Given the description of an element on the screen output the (x, y) to click on. 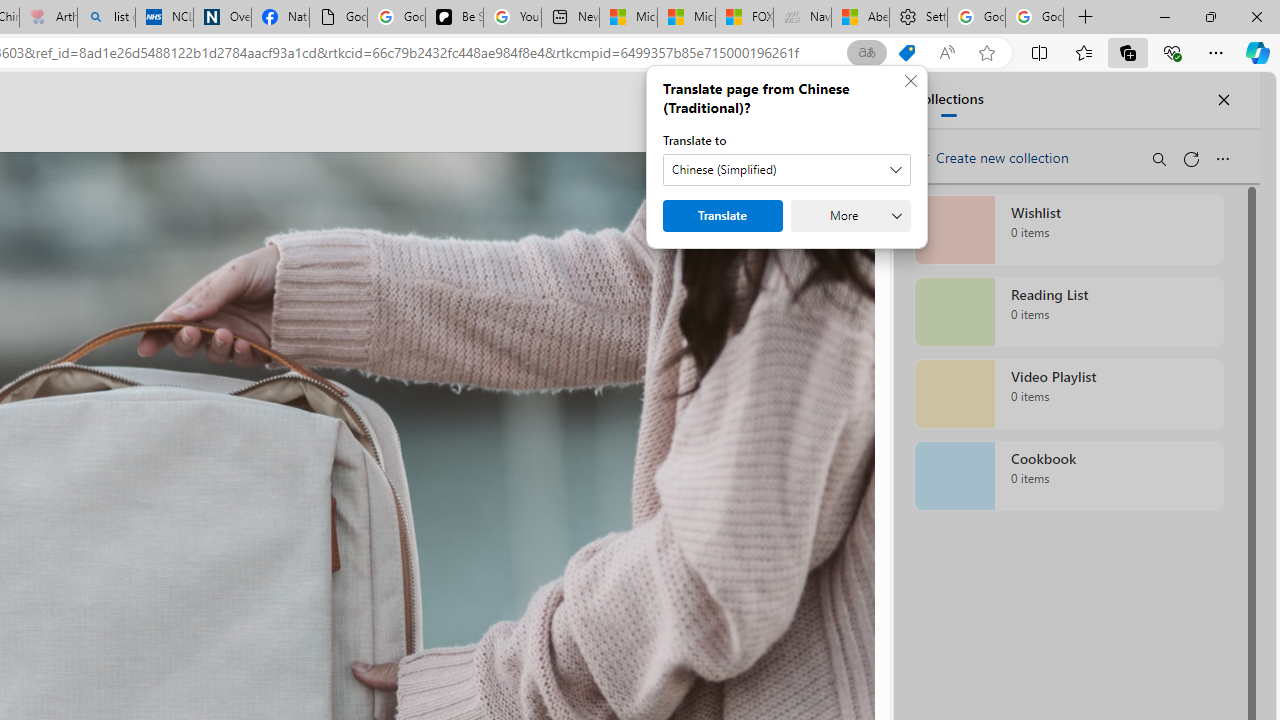
Translate (723, 215)
FOX News - MSN (744, 17)
